Given the description of an element on the screen output the (x, y) to click on. 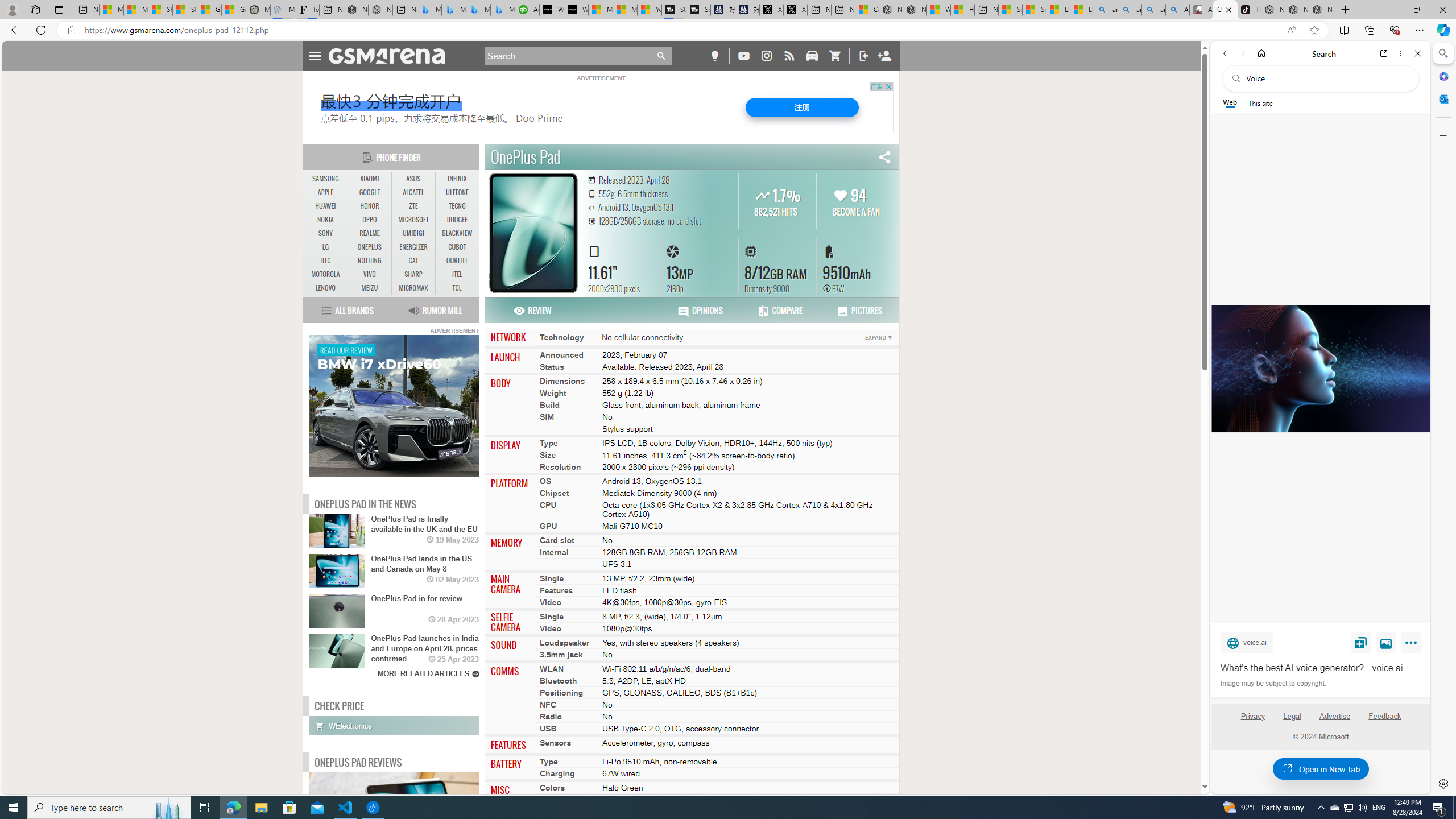
OUKITEL (457, 260)
Chipset (554, 492)
Features (556, 590)
SAMSUNG (325, 178)
ONEPLUS (369, 246)
Technology (561, 336)
GPU (548, 526)
HUAWEI (325, 206)
amazon - Search Images (1153, 9)
